Given the description of an element on the screen output the (x, y) to click on. 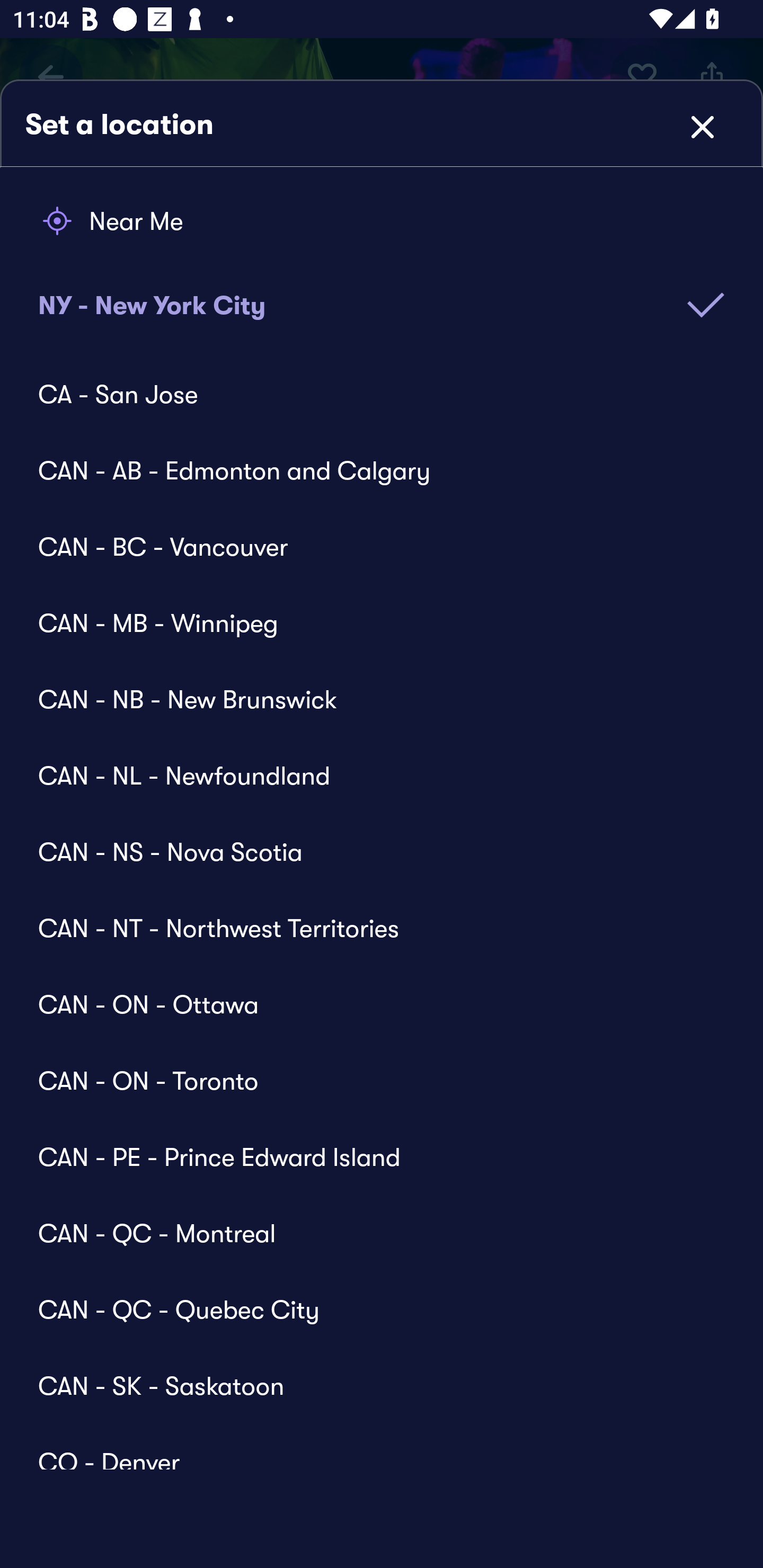
Near Me (381, 220)
NY - New York City (381, 292)
CA - San Jose (368, 393)
CAN - AB - Edmonton and Calgary (368, 470)
CAN - BC - Vancouver (368, 546)
CAN - MB - Winnipeg (368, 622)
CAN - NB - New Brunswick (368, 698)
CAN - NS - Nova Scotia (368, 851)
CAN - NT - Northwest Territories (368, 927)
CAN - ON - Ottawa (368, 1003)
CAN - ON - Toronto (368, 1080)
CAN - QC - Montreal (368, 1232)
CAN - QC - Quebec City (368, 1308)
CAN - SK - Saskatoon (368, 1384)
